Given the description of an element on the screen output the (x, y) to click on. 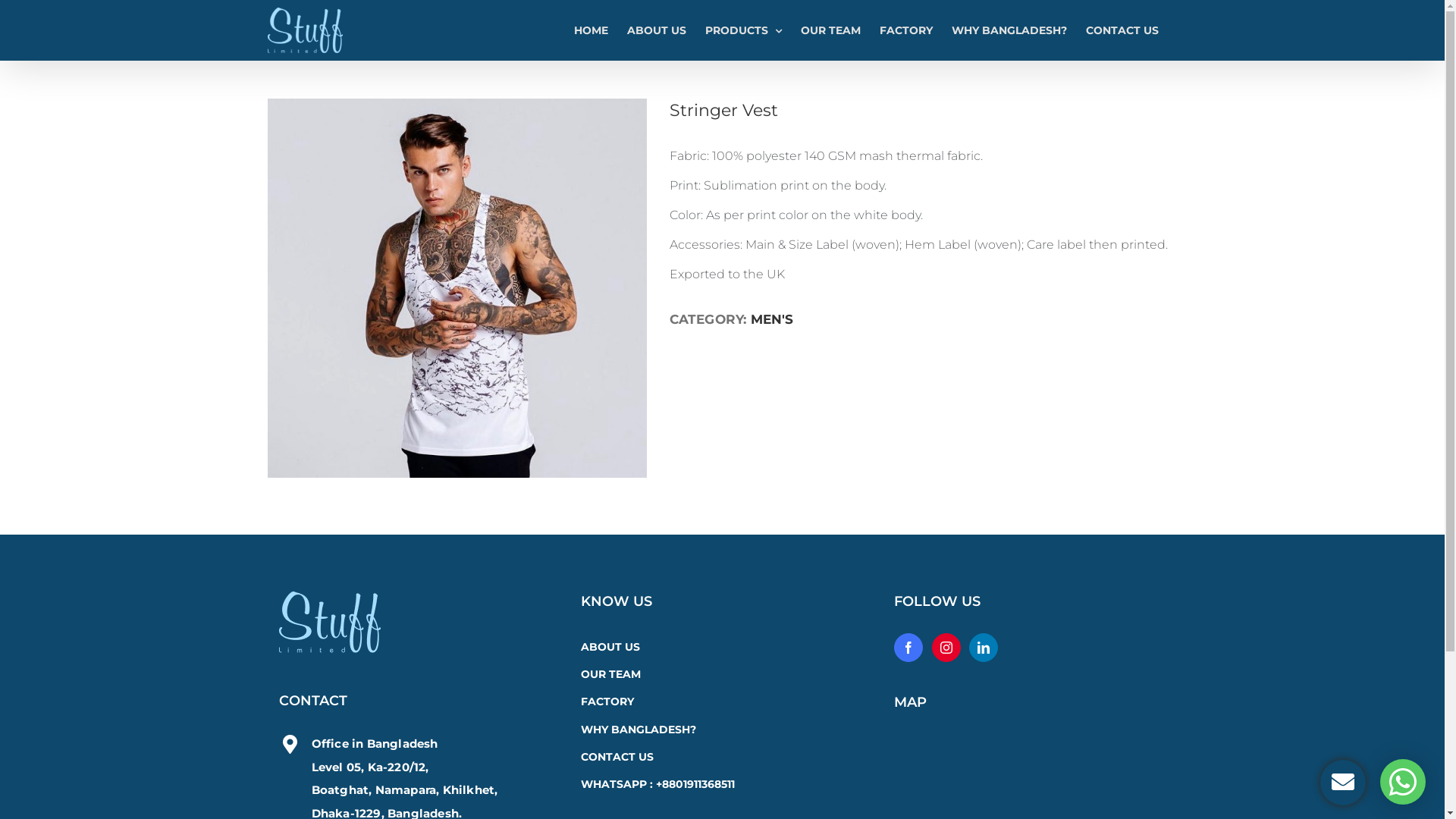
WHY BANGLADESH? Element type: text (1008, 30)
ABOUT US Element type: text (721, 647)
ABOUT US Element type: text (655, 30)
FACTORY Element type: text (905, 30)
OUR TEAM Element type: text (721, 674)
WHY BANGLADESH? Element type: text (721, 729)
CONTACT US Element type: text (1121, 30)
FACTORY Element type: text (721, 701)
WHATSAPP : +8801911368511 Element type: text (721, 784)
PRODUCTS Element type: text (743, 30)
HOME Element type: text (590, 30)
MEN'S Element type: text (771, 318)
CONTACT US Element type: text (721, 757)
OUR TEAM Element type: text (830, 30)
Stringer Vest Element type: hover (456, 287)
